Given the description of an element on the screen output the (x, y) to click on. 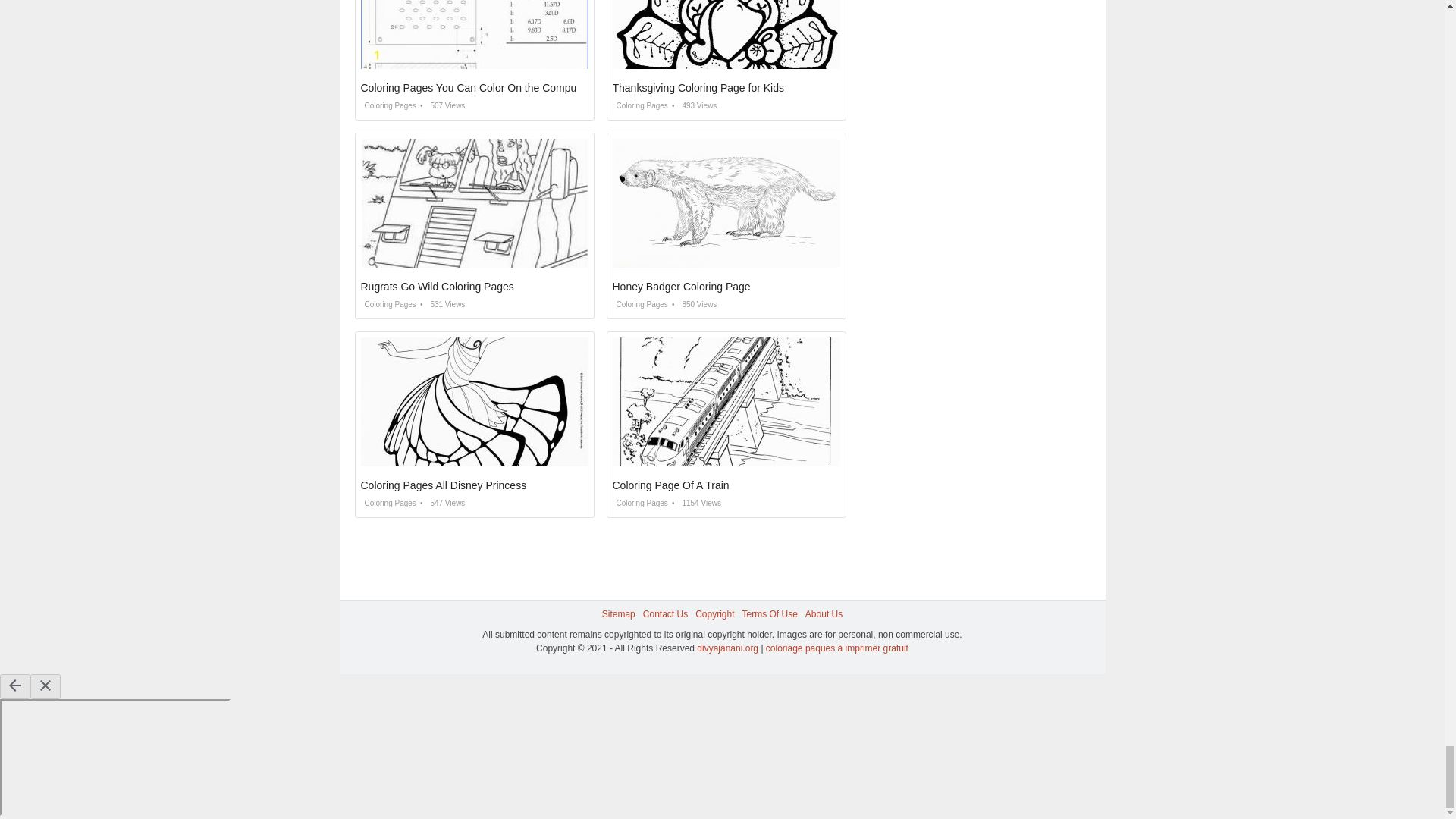
Coloring Pages You Can Color On the Computer (475, 87)
Coloring Pages (388, 304)
Rugrats Go Wild Coloring Pages (437, 286)
Coloring Pages (640, 105)
Thanksgiving Coloring Page for Kids (698, 87)
Coloring Pages (388, 105)
